Given the description of an element on the screen output the (x, y) to click on. 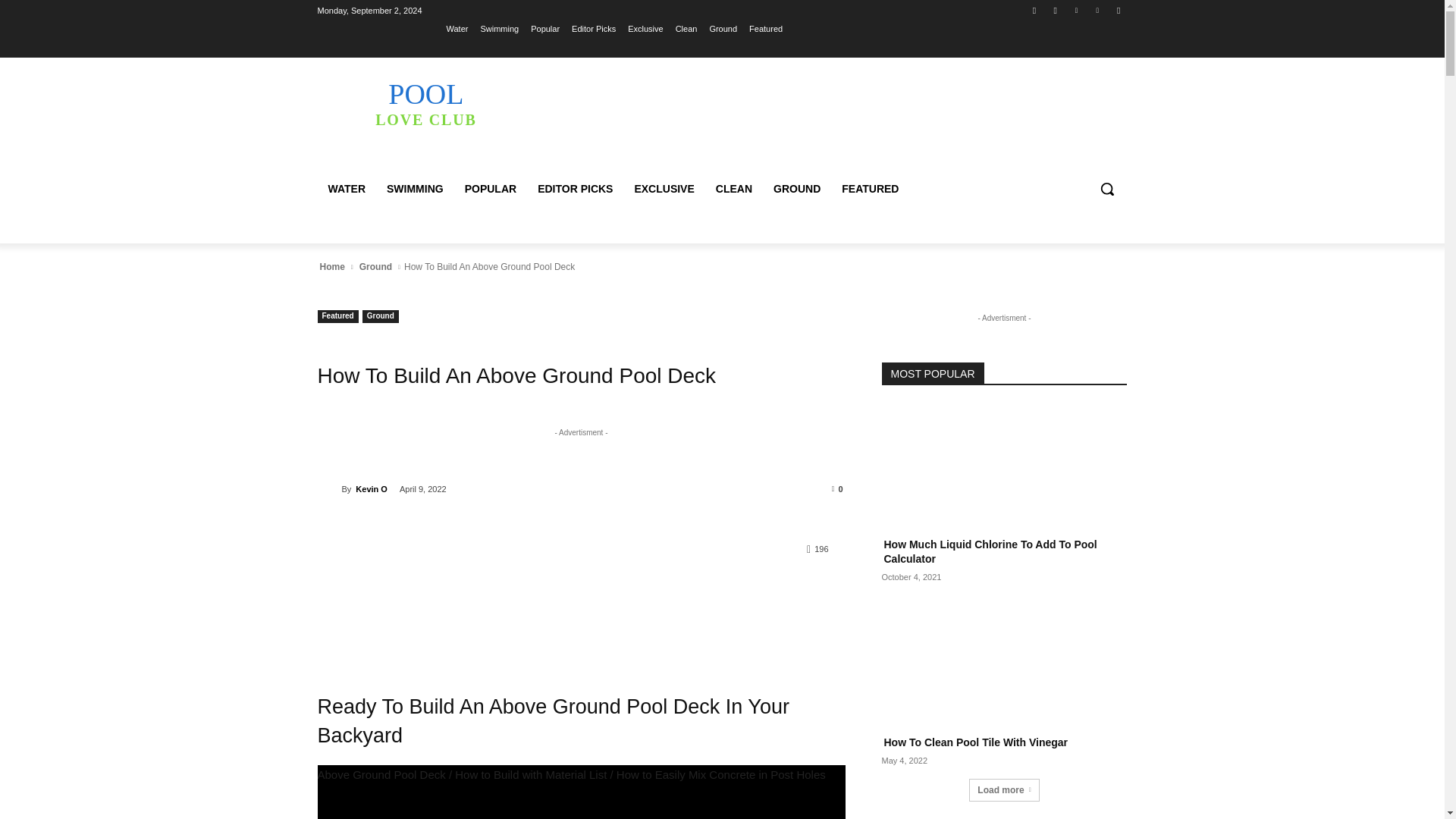
Ground (722, 28)
Youtube (1117, 9)
EDITOR PICKS (575, 188)
Swimming (499, 28)
POPULAR (490, 188)
FEATURED (869, 188)
SWIMMING (414, 188)
Vimeo (1097, 9)
CLEAN (733, 188)
Popular (545, 28)
